Given the description of an element on the screen output the (x, y) to click on. 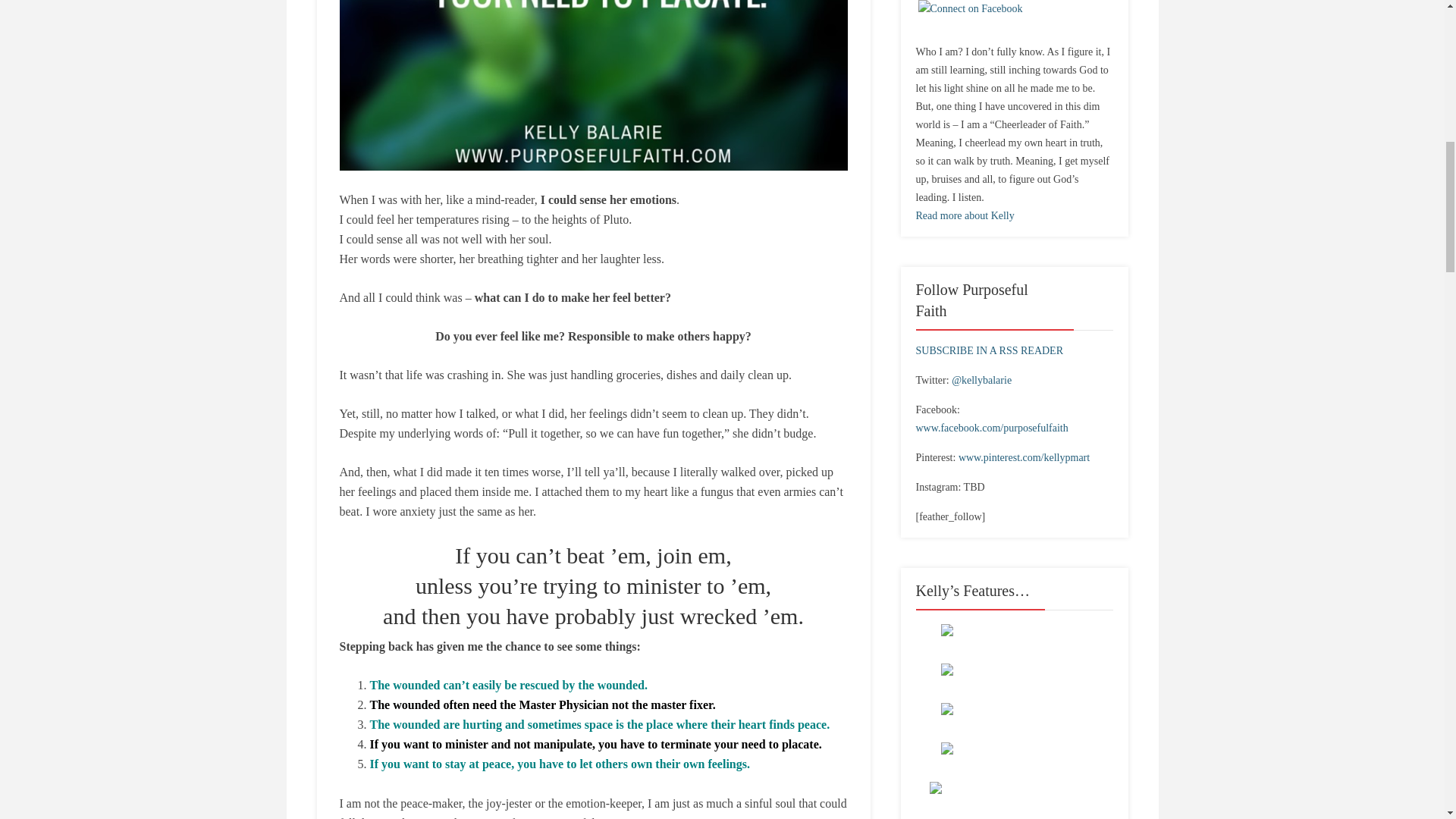
Read more about Kelly (964, 215)
When Others Make you Uneasy (593, 85)
SUBSCRIBE IN A RSS READER (989, 350)
